Given the description of an element on the screen output the (x, y) to click on. 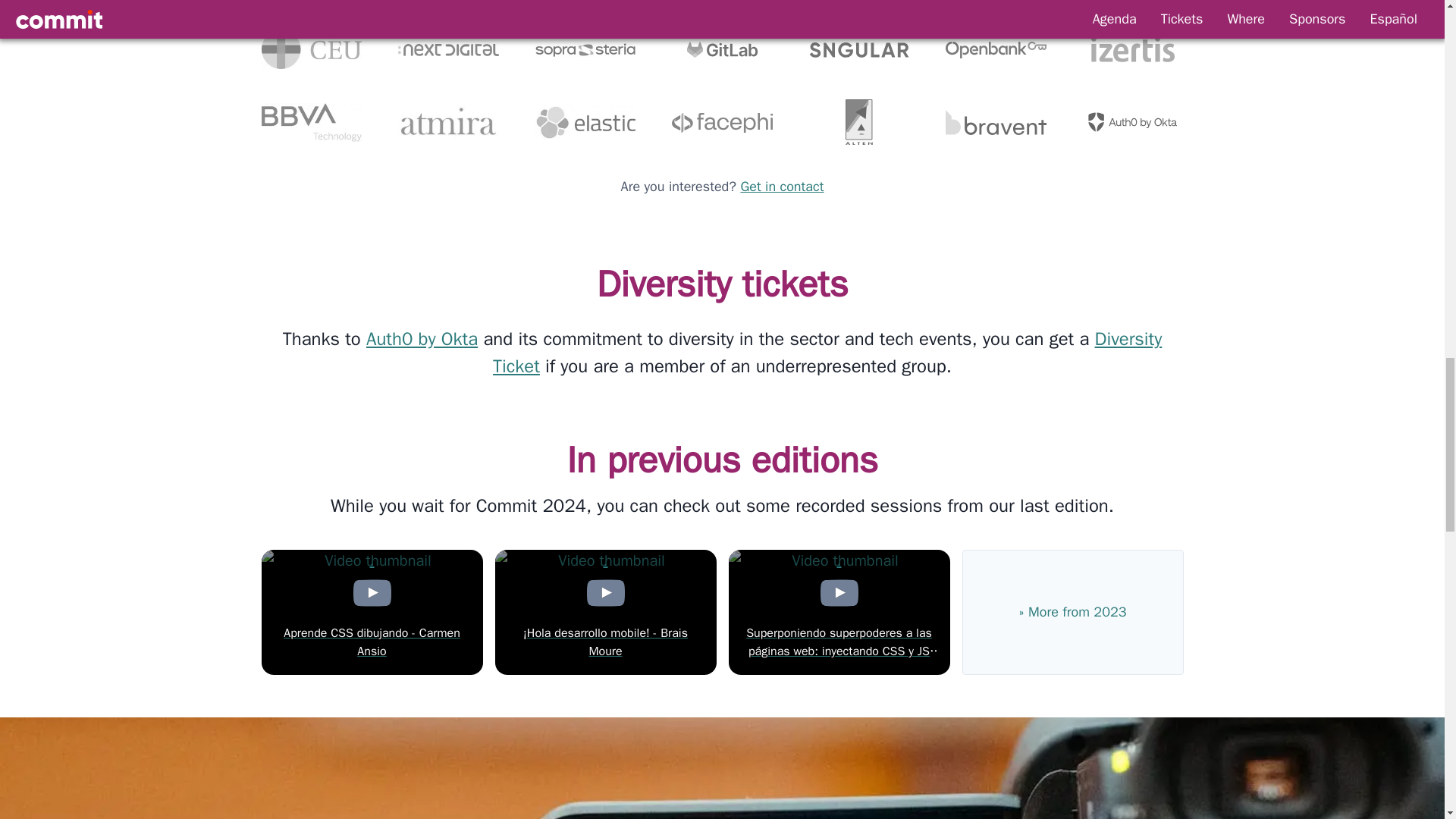
BBVA Technology (310, 122)
Bravent (995, 122)
Diversity Ticket (827, 352)
Elastic (585, 122)
Auth0 by Okta (421, 338)
Ceu San Pablo (310, 48)
Izertis (1133, 49)
Aprende CSS dibujando - Carmen Ansio (370, 611)
Next Digital Hub (448, 48)
Auth0 (1133, 122)
